Given the description of an element on the screen output the (x, y) to click on. 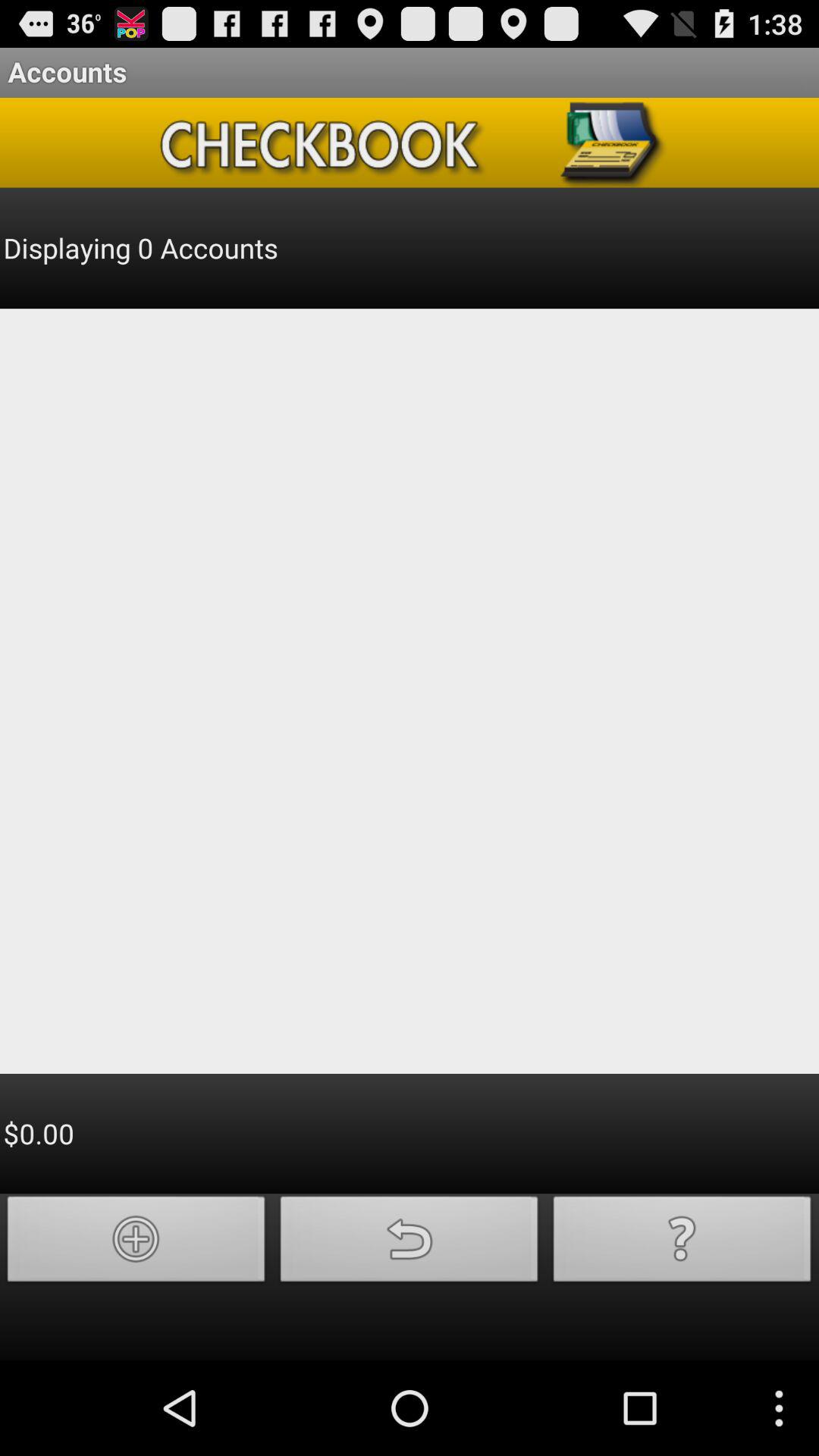
go back (409, 1243)
